Given the description of an element on the screen output the (x, y) to click on. 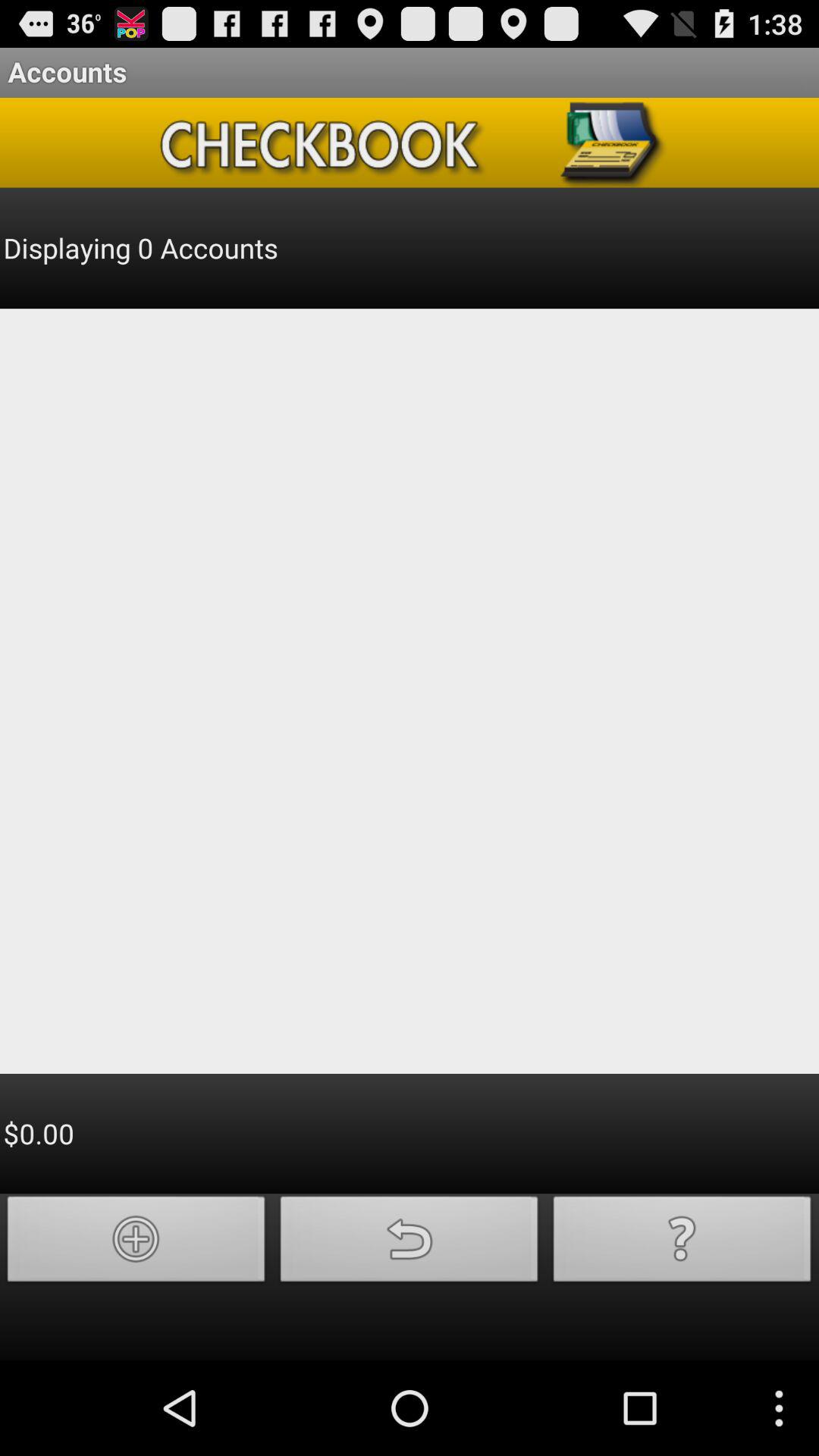
go back (409, 1243)
